Given the description of an element on the screen output the (x, y) to click on. 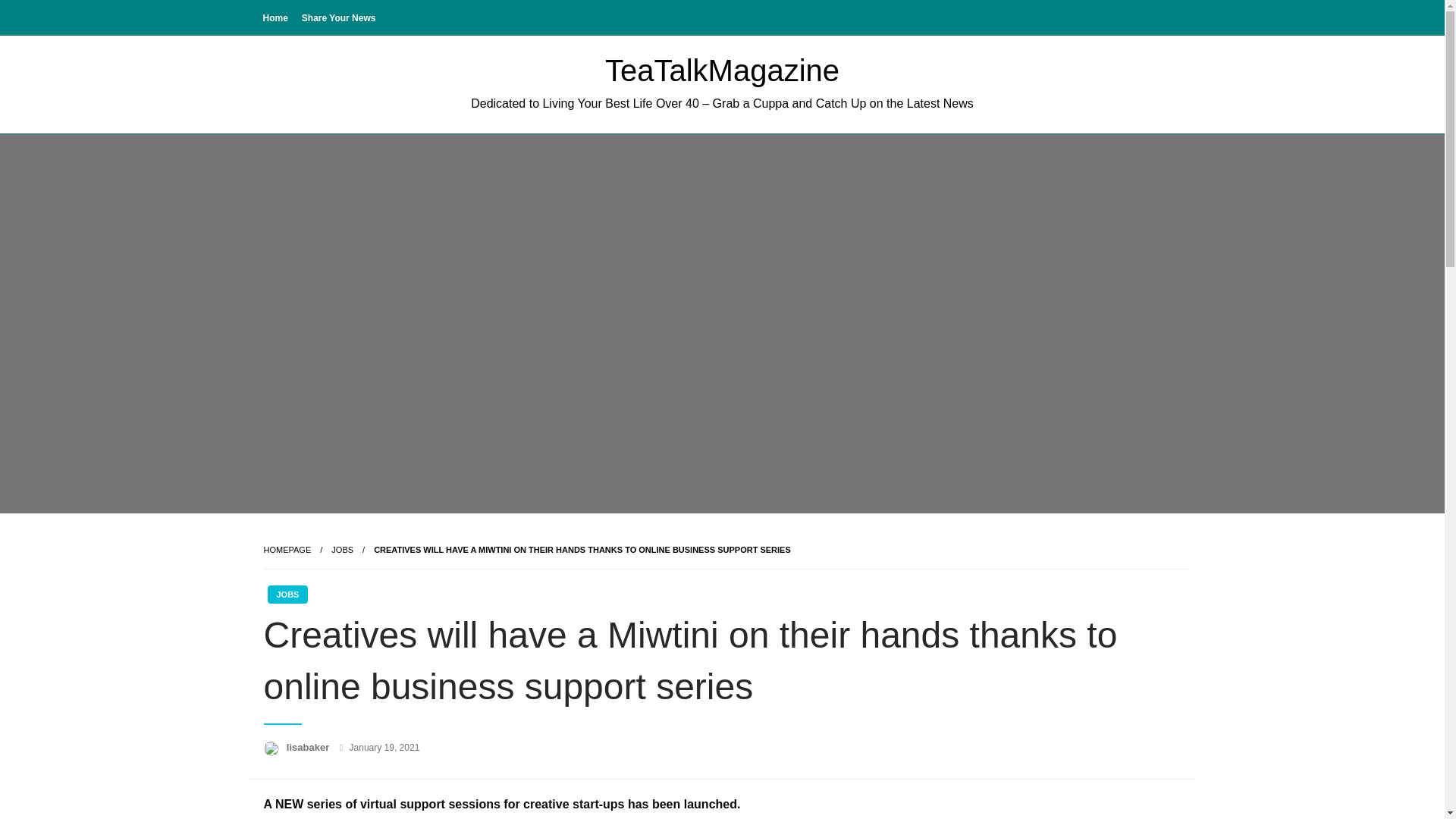
Share Your News (338, 17)
Home (275, 17)
lisabaker (308, 747)
TeaTalkMagazine (722, 70)
Jobs (342, 549)
Homepage (287, 549)
